Given the description of an element on the screen output the (x, y) to click on. 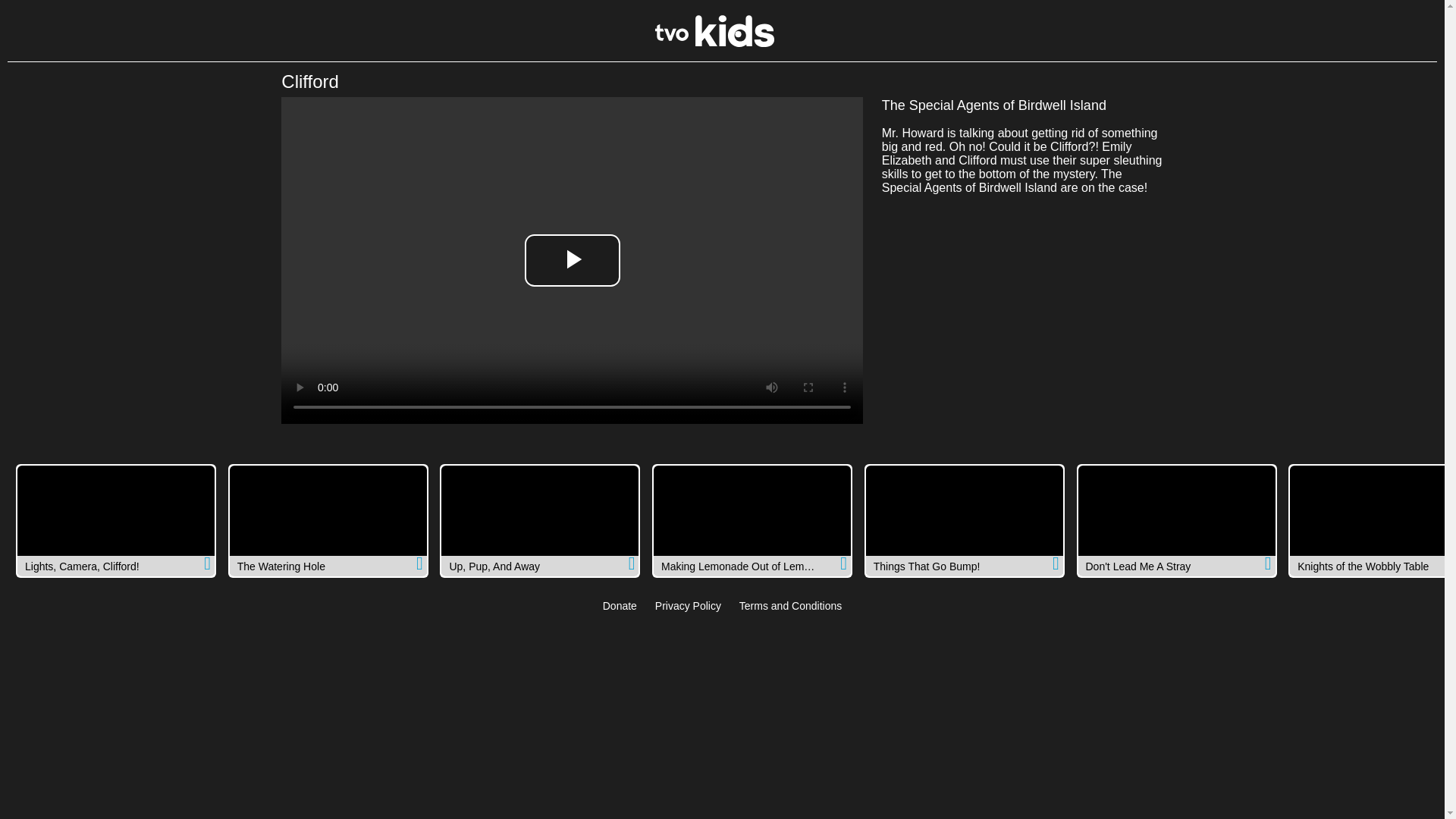
Don't Lead Me A Stray (1176, 521)
T V O Kids Logo (714, 42)
Lights, Camera, Clifford! (115, 521)
The Watering Hole (328, 521)
Things That Go Bump! (964, 521)
Up, Pup, And Away (539, 521)
Making Lemonade Out of Lemons (751, 521)
Play Video (572, 260)
Play Video (572, 260)
